Given the description of an element on the screen output the (x, y) to click on. 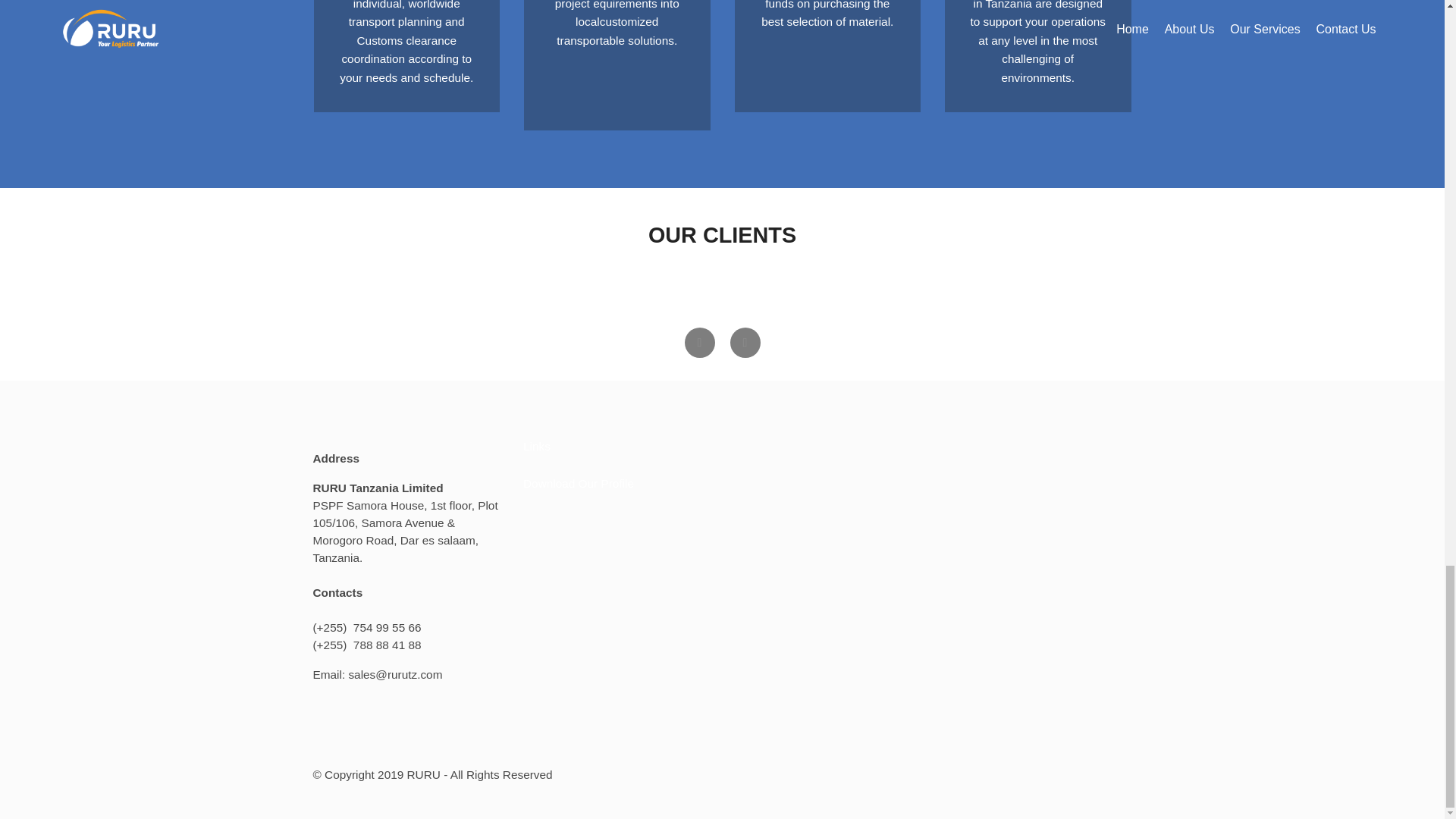
Previous (699, 342)
Download Our Profile (577, 482)
Links (536, 445)
Next (744, 342)
